Given the description of an element on the screen output the (x, y) to click on. 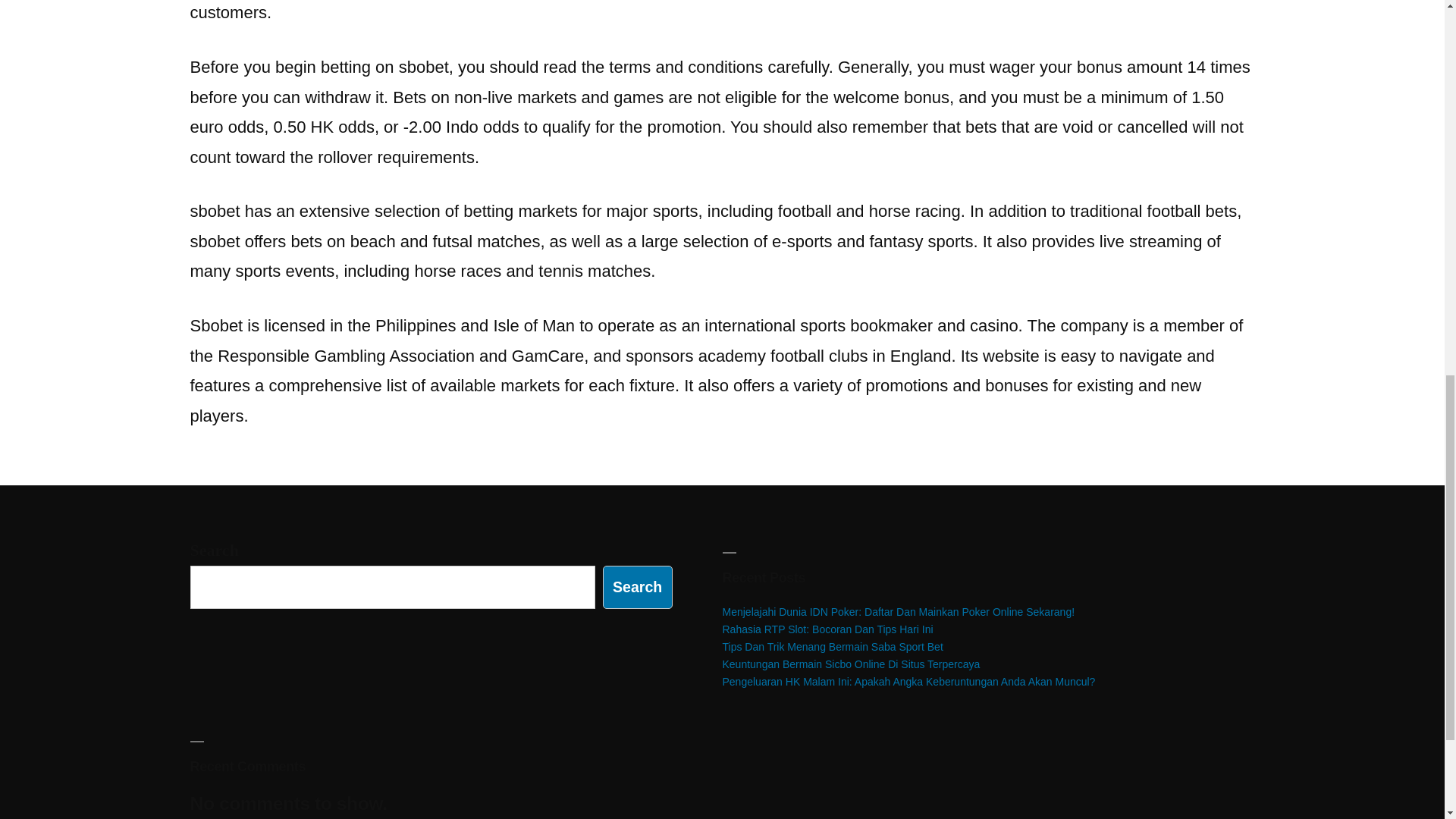
Search (637, 587)
Tips Dan Trik Menang Bermain Saba Sport Bet (832, 646)
Keuntungan Bermain Sicbo Online Di Situs Terpercaya (850, 664)
Rahasia RTP Slot: Bocoran Dan Tips Hari Ini (827, 629)
